Given the description of an element on the screen output the (x, y) to click on. 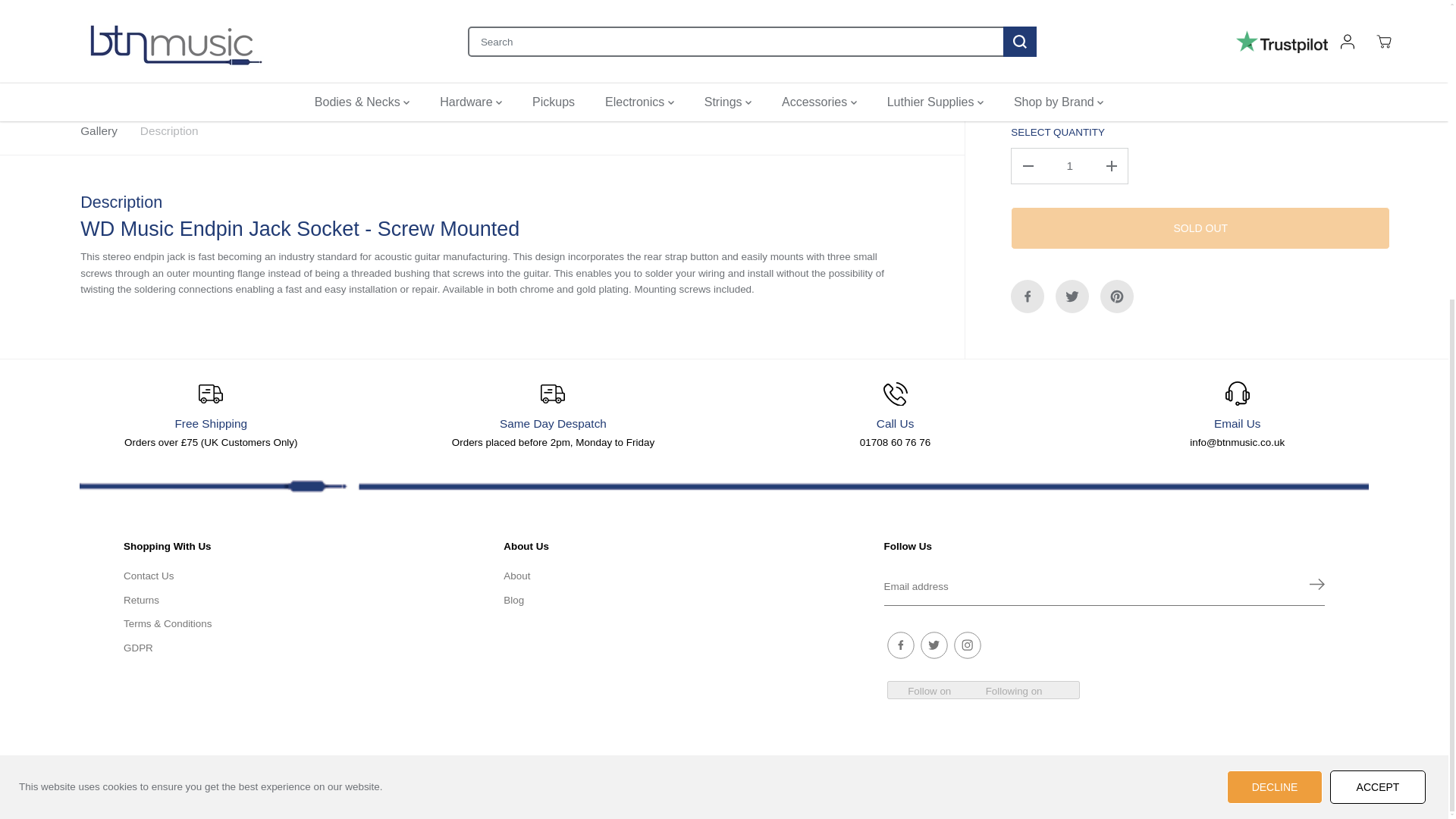
Twitter (1072, 99)
Pinterest (1117, 99)
Facebook (1026, 99)
